Given the description of an element on the screen output the (x, y) to click on. 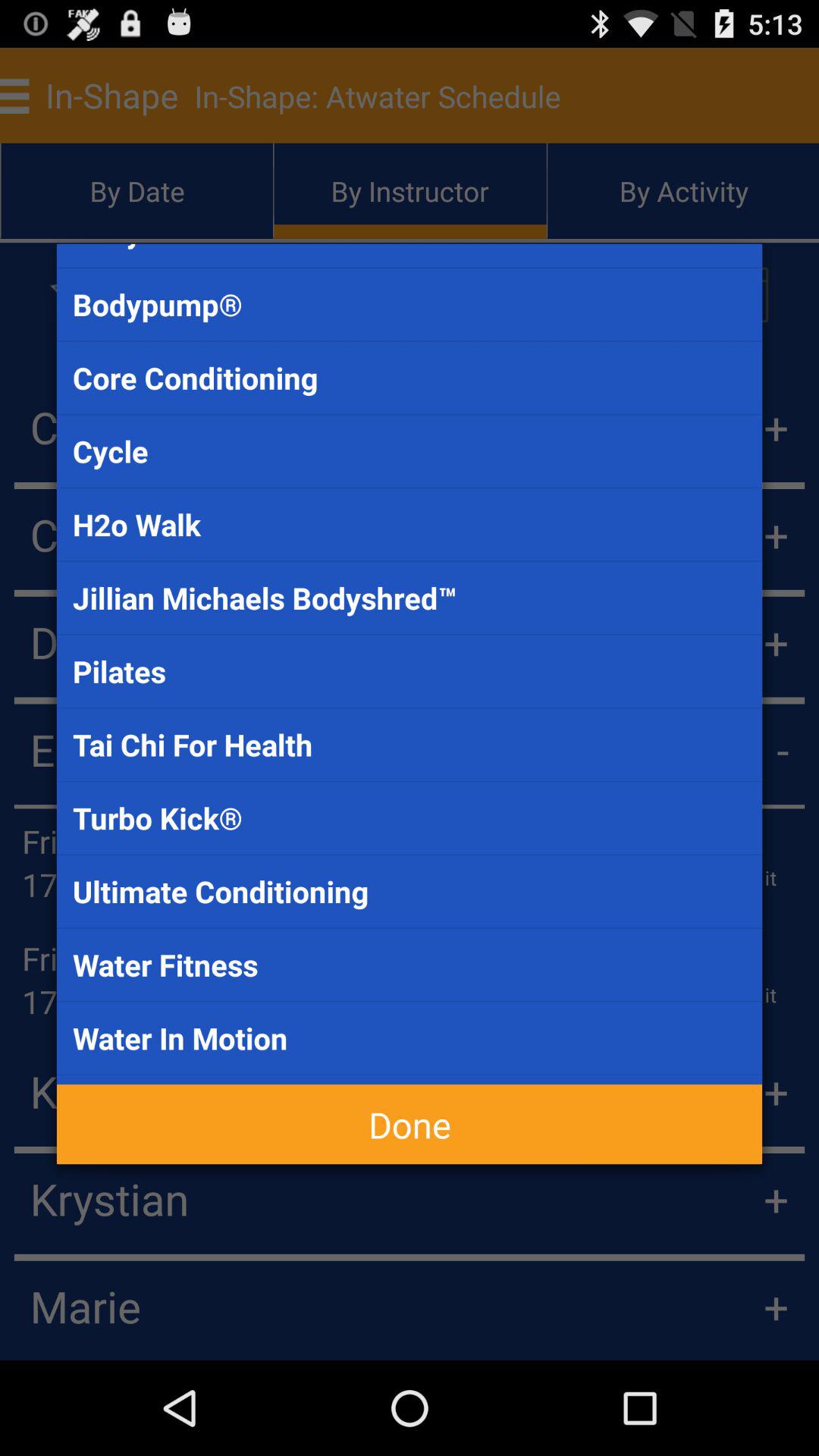
turn off the core conditioning icon (409, 377)
